Given the description of an element on the screen output the (x, y) to click on. 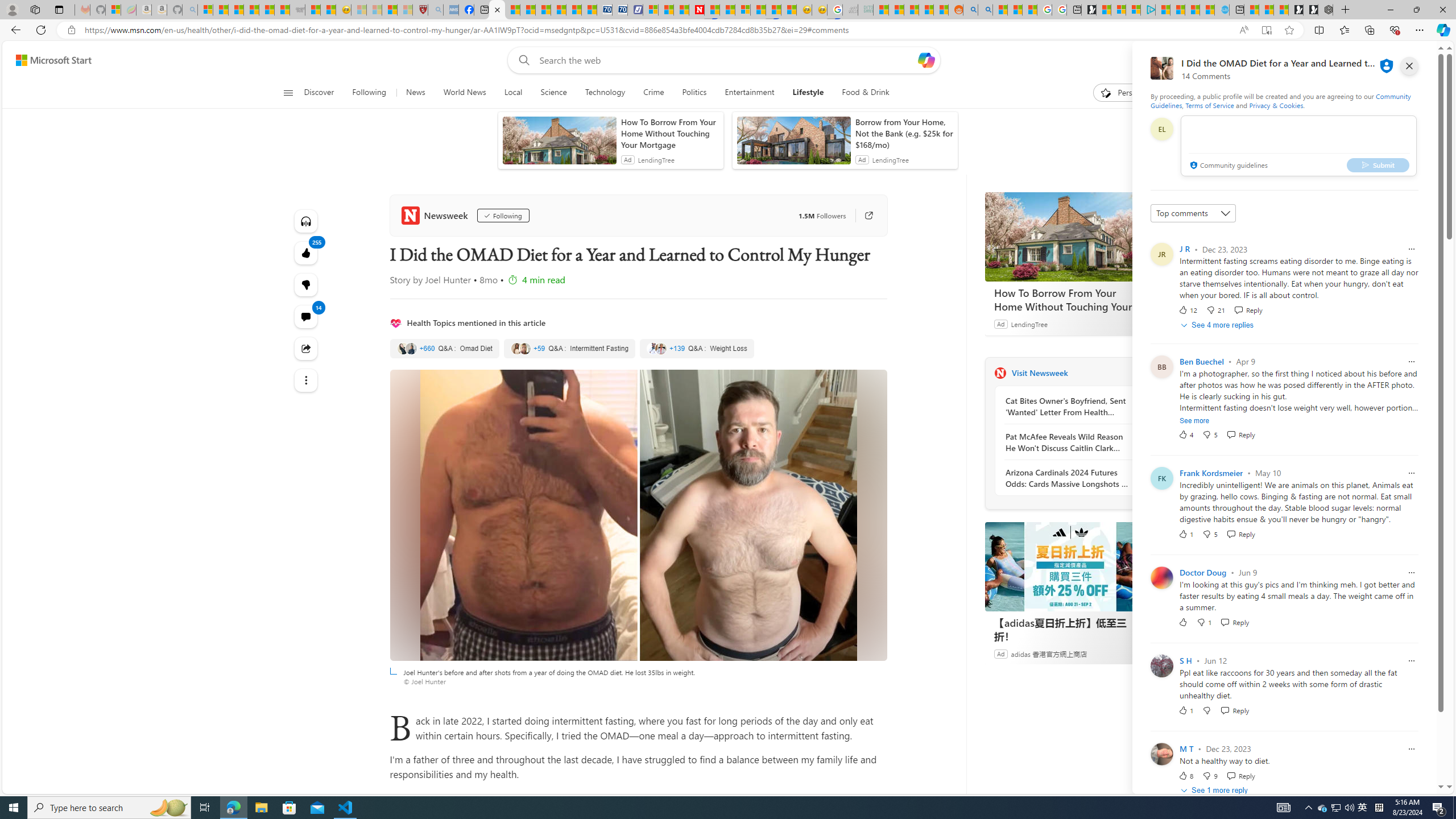
Class: quote-thumbnail (661, 348)
Report comment (1411, 748)
close (1409, 65)
anim-content (793, 144)
S H (1185, 660)
Share this story (305, 348)
